Given the description of an element on the screen output the (x, y) to click on. 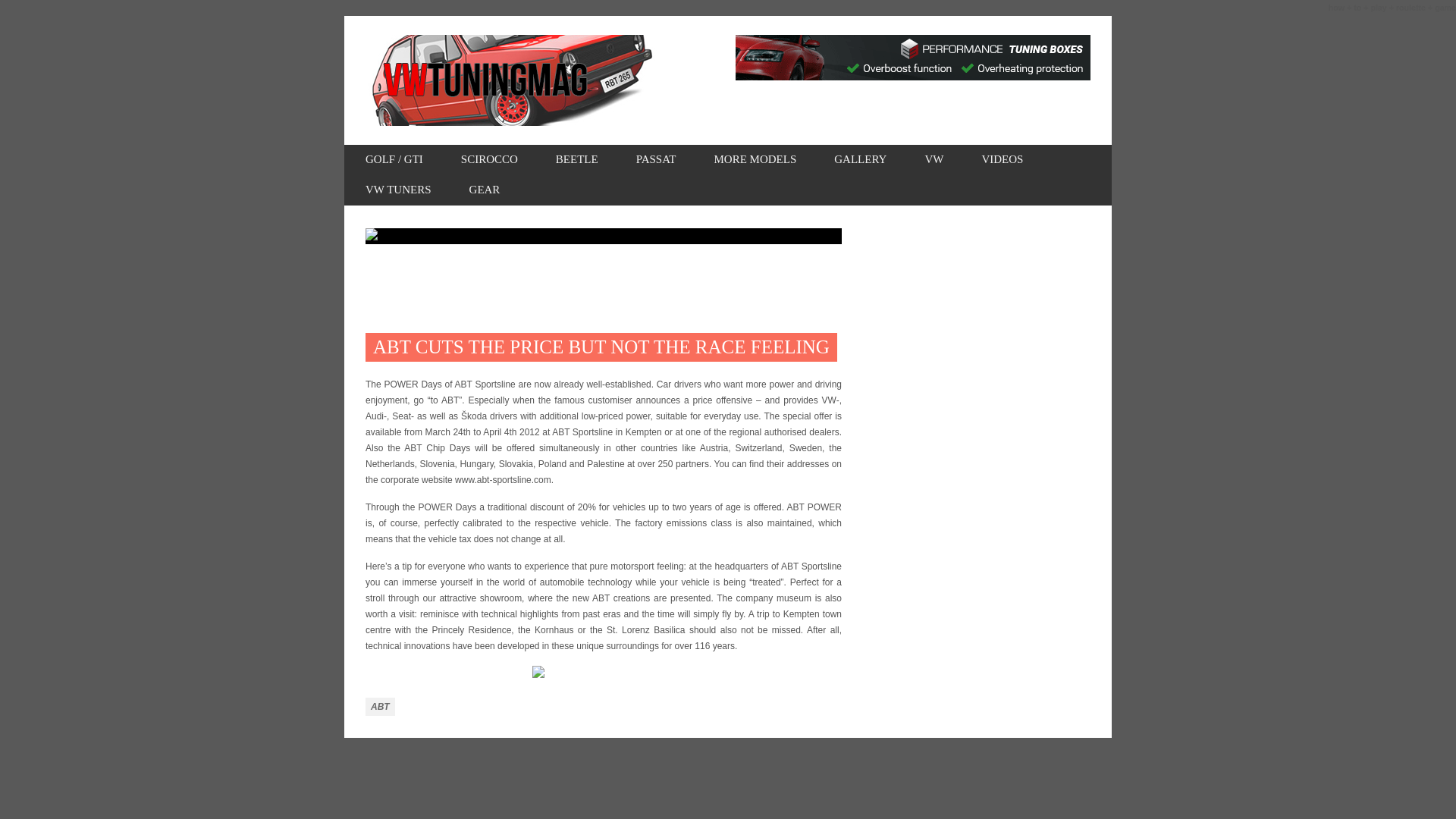
GALLERY (860, 159)
Beetle Tuning (577, 159)
GEAR (484, 190)
MORE MODELS (755, 159)
BEETLE (577, 159)
VIDEOS (1002, 159)
Golf tuning (394, 159)
SCIROCCO (489, 159)
Passat Tuning (656, 159)
ABT (379, 706)
Scirocco Tuning (489, 159)
VW TUNERS (397, 190)
PASSAT (656, 159)
